Given the description of an element on the screen output the (x, y) to click on. 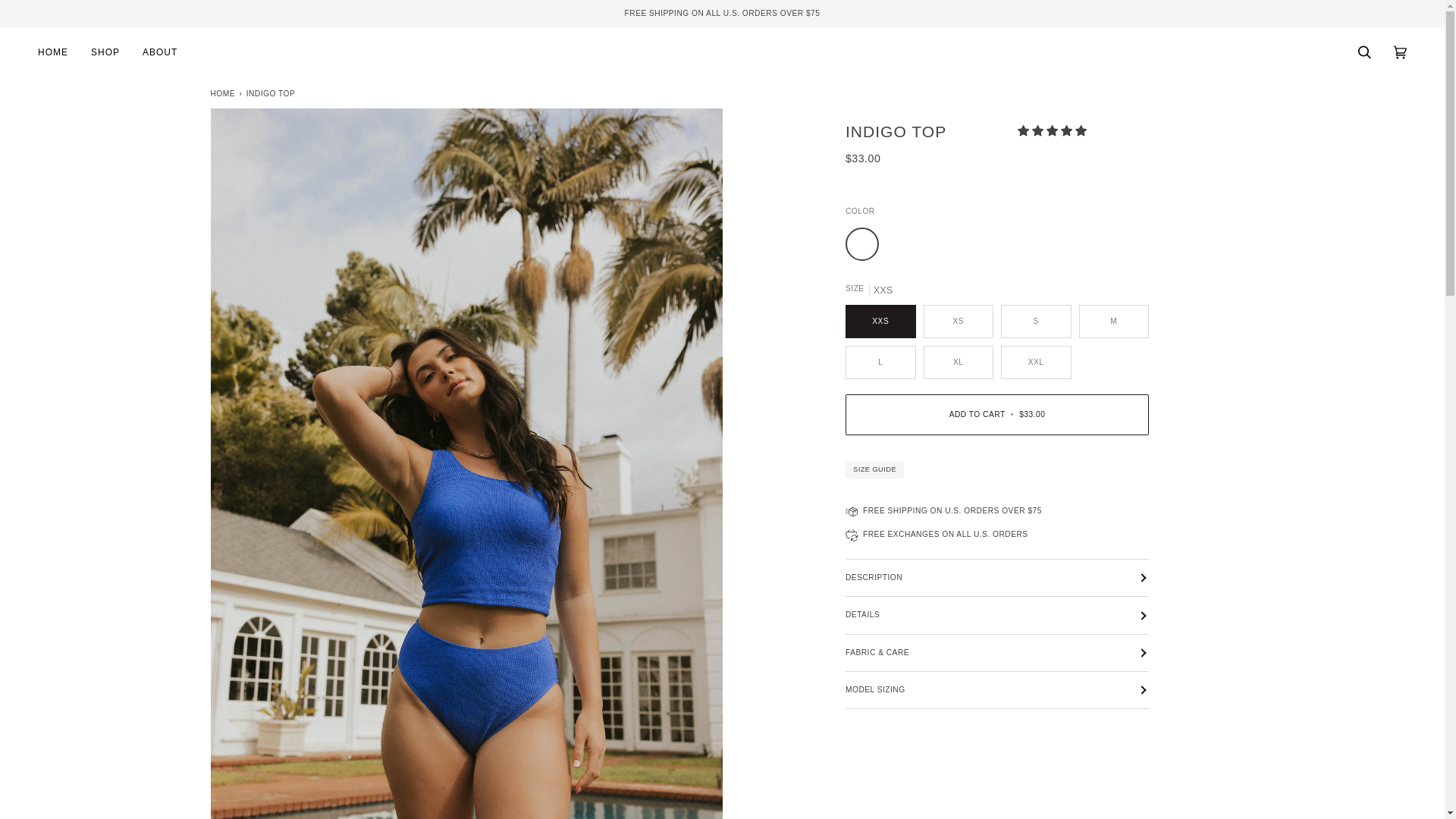
ABOUT (160, 52)
HOME (58, 52)
SHOP (105, 52)
SEARCH (1363, 52)
Back to the frontpage (224, 93)
